Given the description of an element on the screen output the (x, y) to click on. 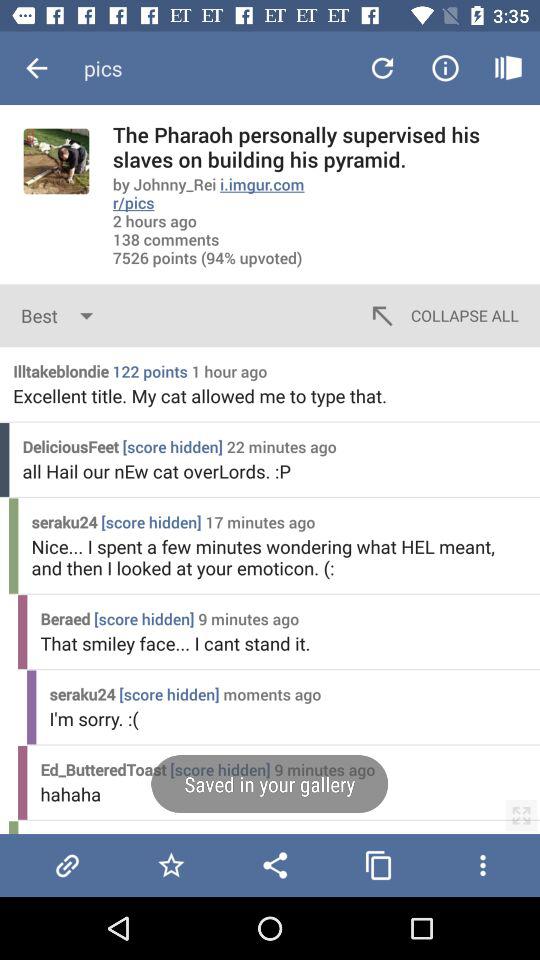
choose the item to the left of the collapse all (61, 315)
